Given the description of an element on the screen output the (x, y) to click on. 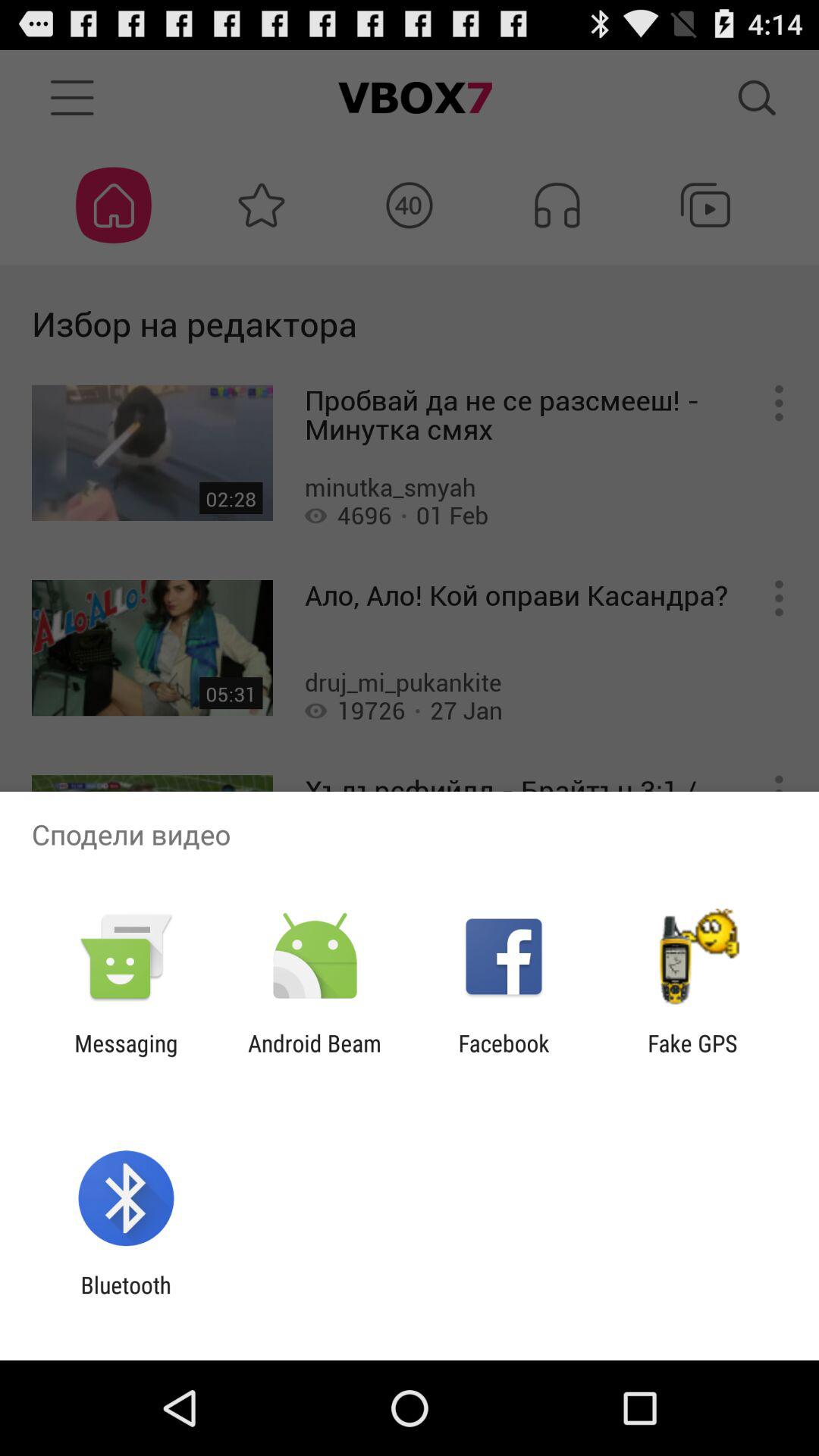
turn off fake gps app (692, 1056)
